Given the description of an element on the screen output the (x, y) to click on. 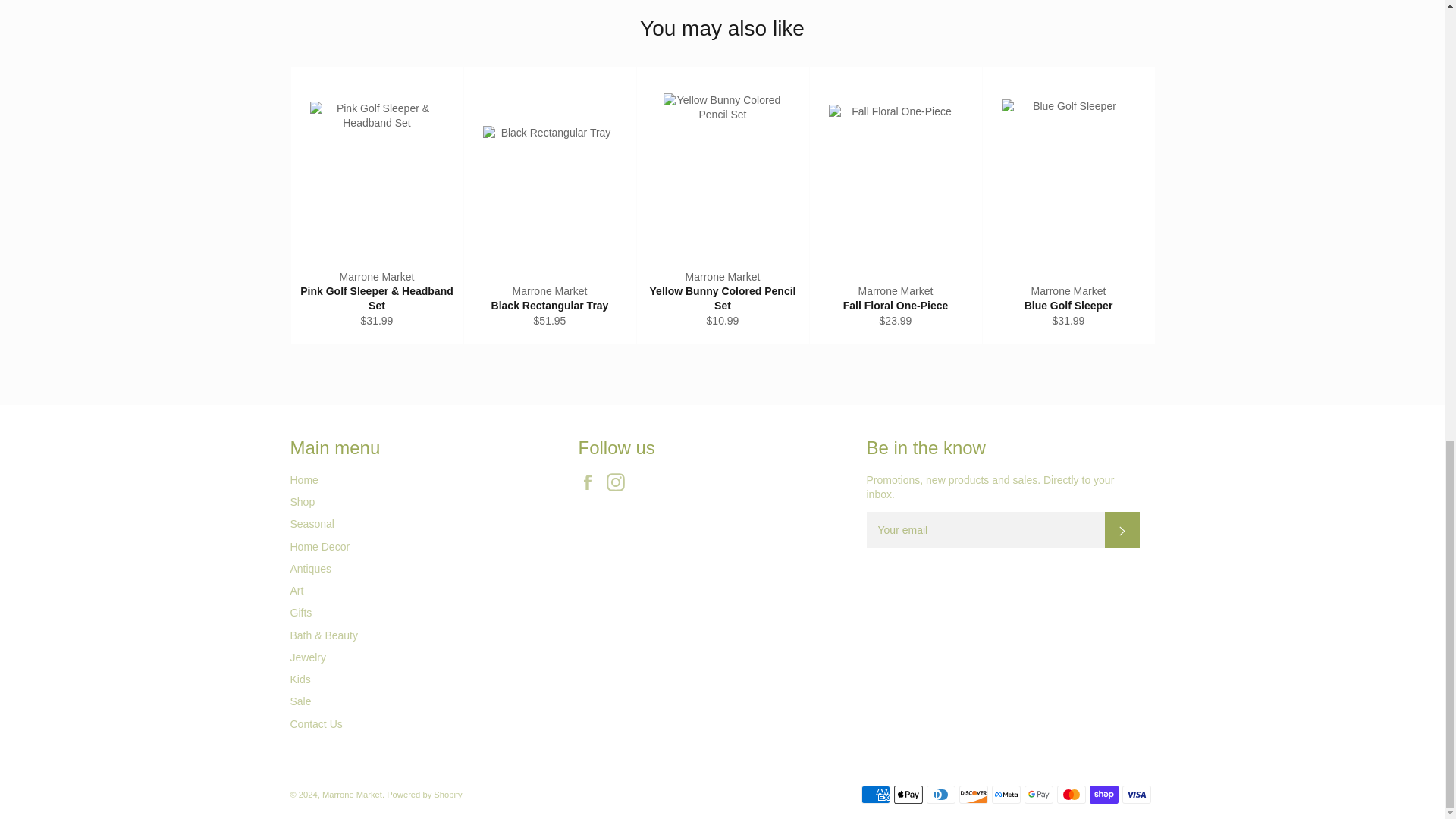
Marrone Market on Facebook (591, 482)
Marrone Market on Instagram (619, 482)
